Given the description of an element on the screen output the (x, y) to click on. 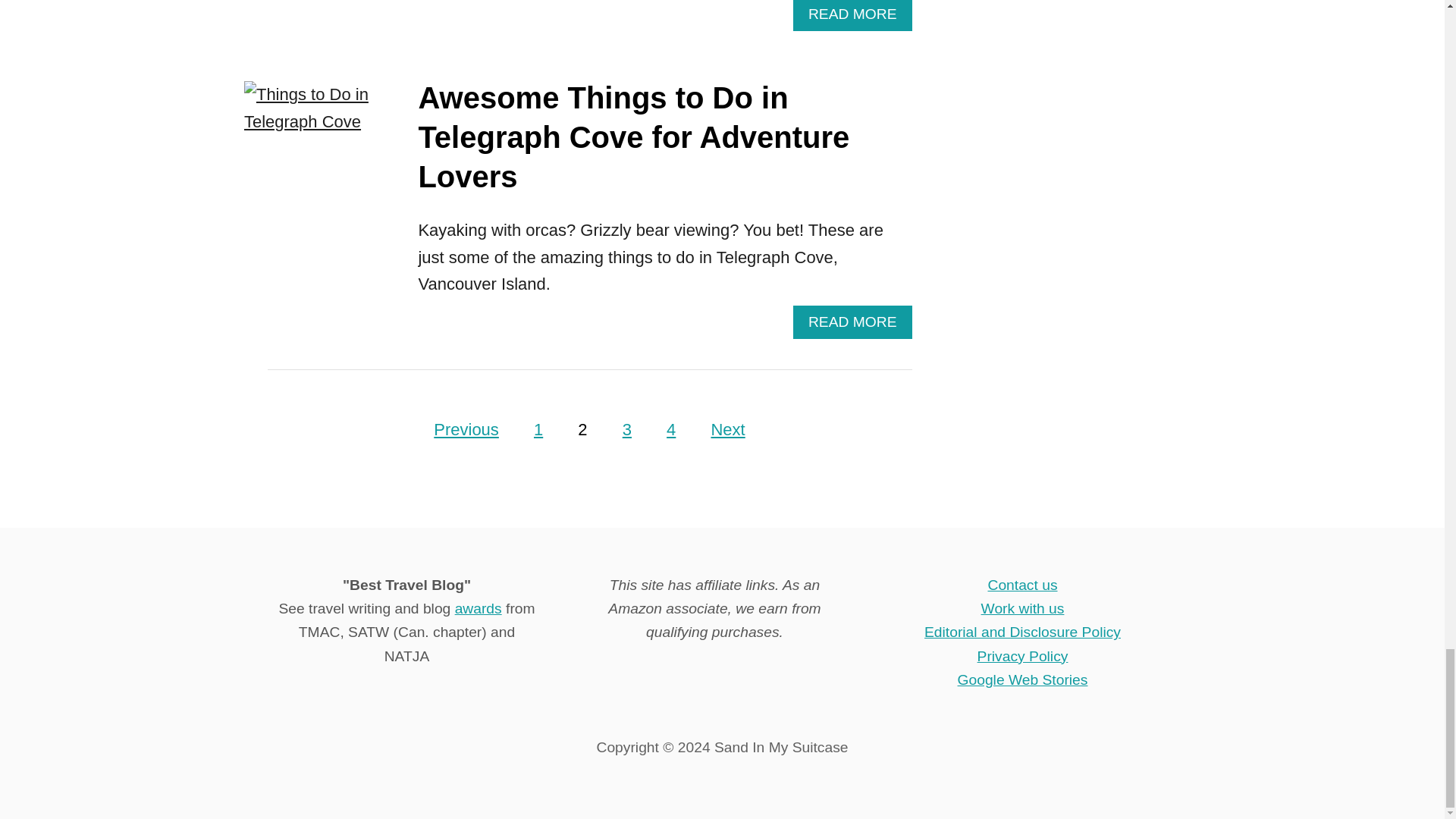
Hiking the Old Fort Point Trail in Jasper National Park (335, 23)
